Given the description of an element on the screen output the (x, y) to click on. 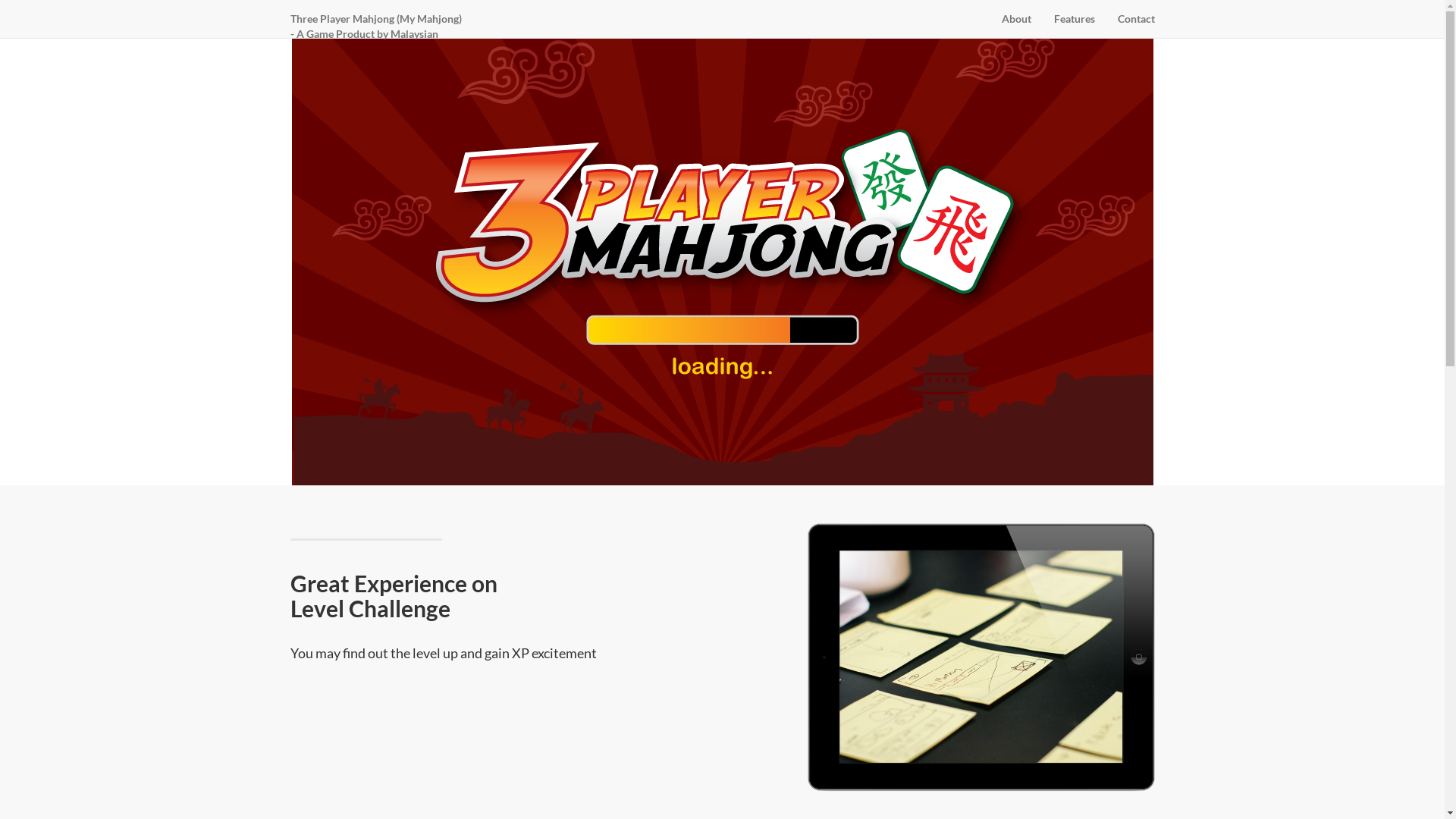
Features Element type: text (1073, 18)
About Element type: text (1016, 18)
Contact Element type: text (1135, 18)
